Given the description of an element on the screen output the (x, y) to click on. 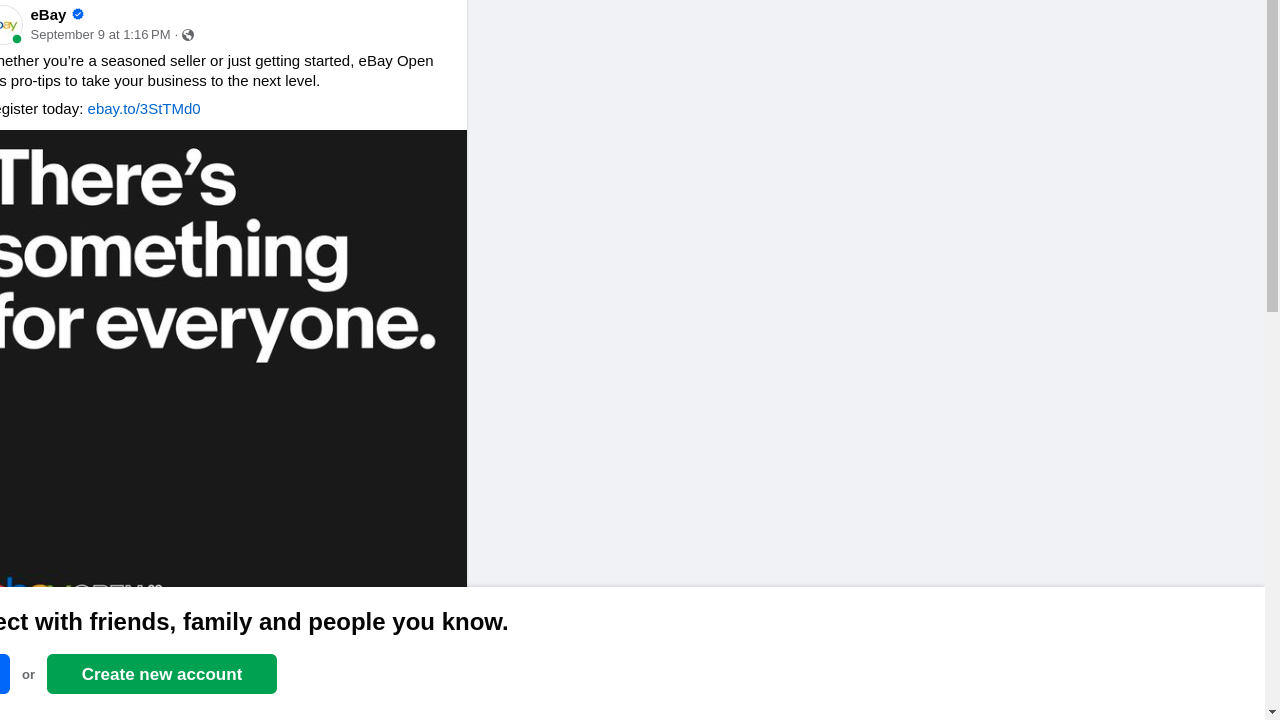
Comment Element type: push-button (334, 692)
s e r d o t S n o p 8 6 h   2 a 7 1 P e t g m   1 r i 0 e 4 8 1 Element type: link (100, 35)
Create new account Element type: link (162, 674)
105 Element type: push-button (388, 650)
Love: 7 people Element type: push-button (11, 650)
